Given the description of an element on the screen output the (x, y) to click on. 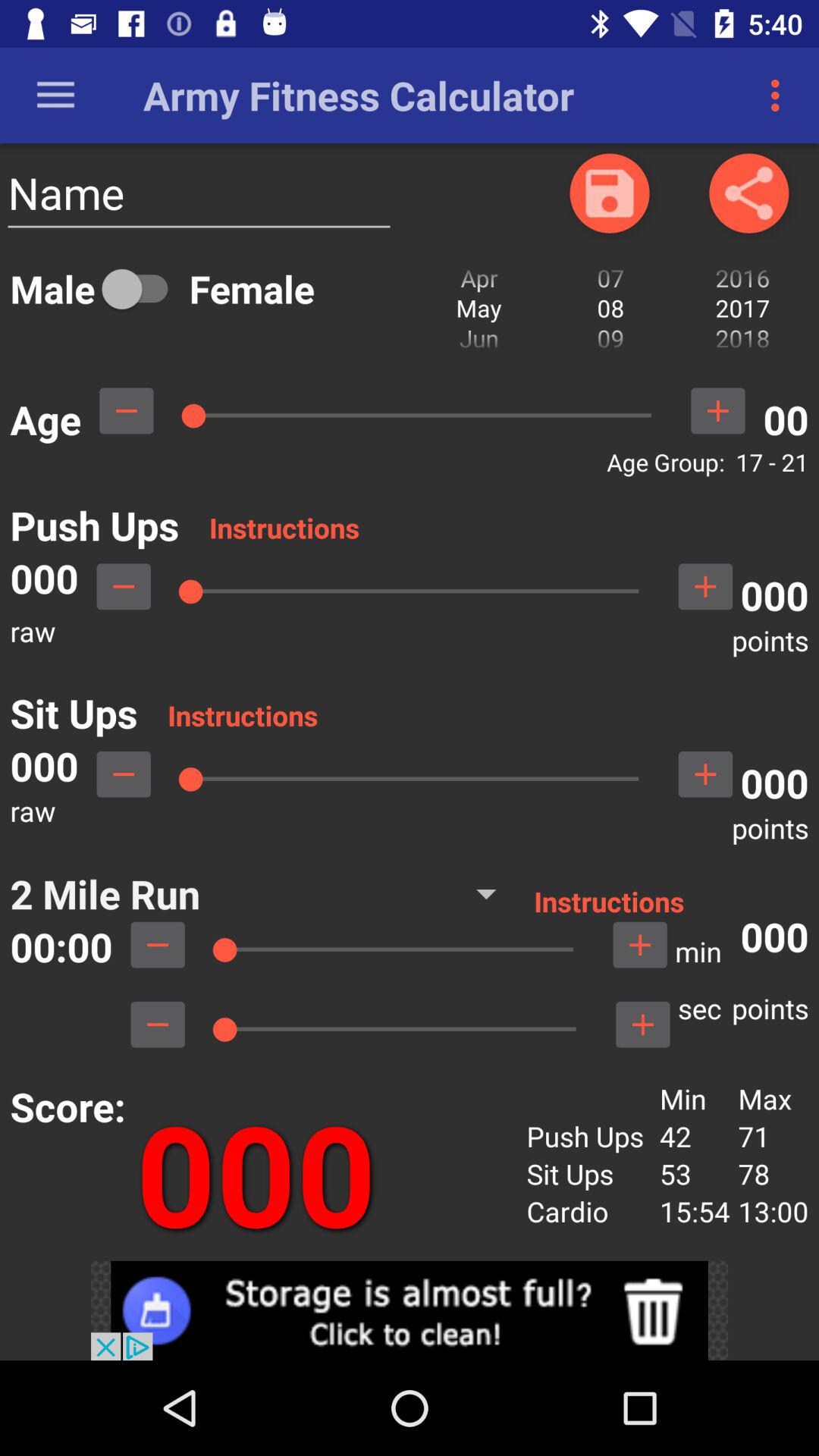
click the plus points (642, 1024)
